Given the description of an element on the screen output the (x, y) to click on. 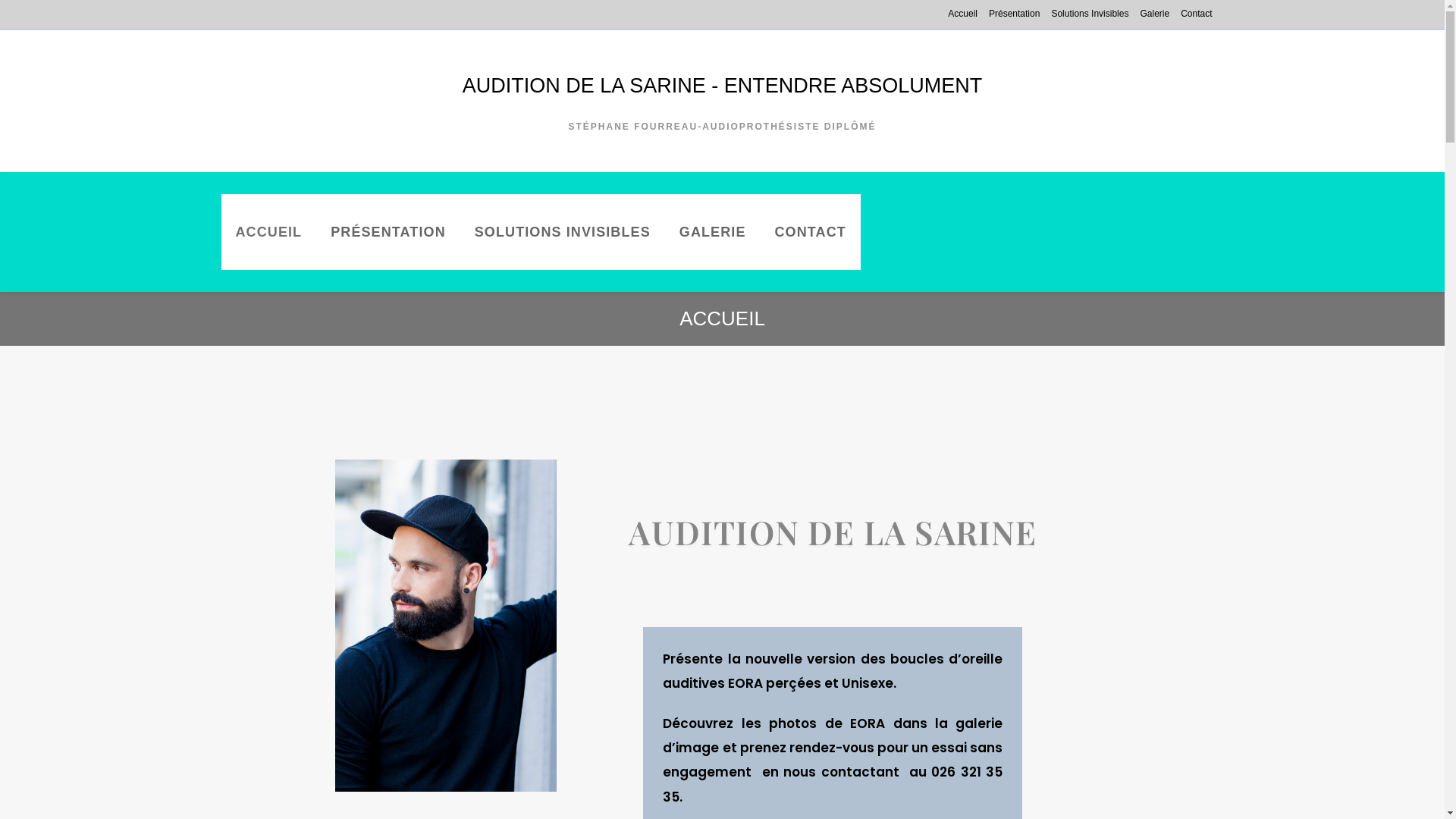
SOLUTIONS INVISIBLES Element type: text (562, 231)
ACCUEIL Element type: text (268, 231)
Solutions Invisibles Element type: text (1089, 14)
GALERIE Element type: text (712, 231)
AUDITION DE LA SARINE - ENTENDRE ABSOLUMENT Element type: text (722, 85)
Contact Element type: text (1195, 14)
Accueil Element type: text (962, 14)
Galerie Element type: text (1154, 14)
CONTACT Element type: text (809, 231)
